Given the description of an element on the screen output the (x, y) to click on. 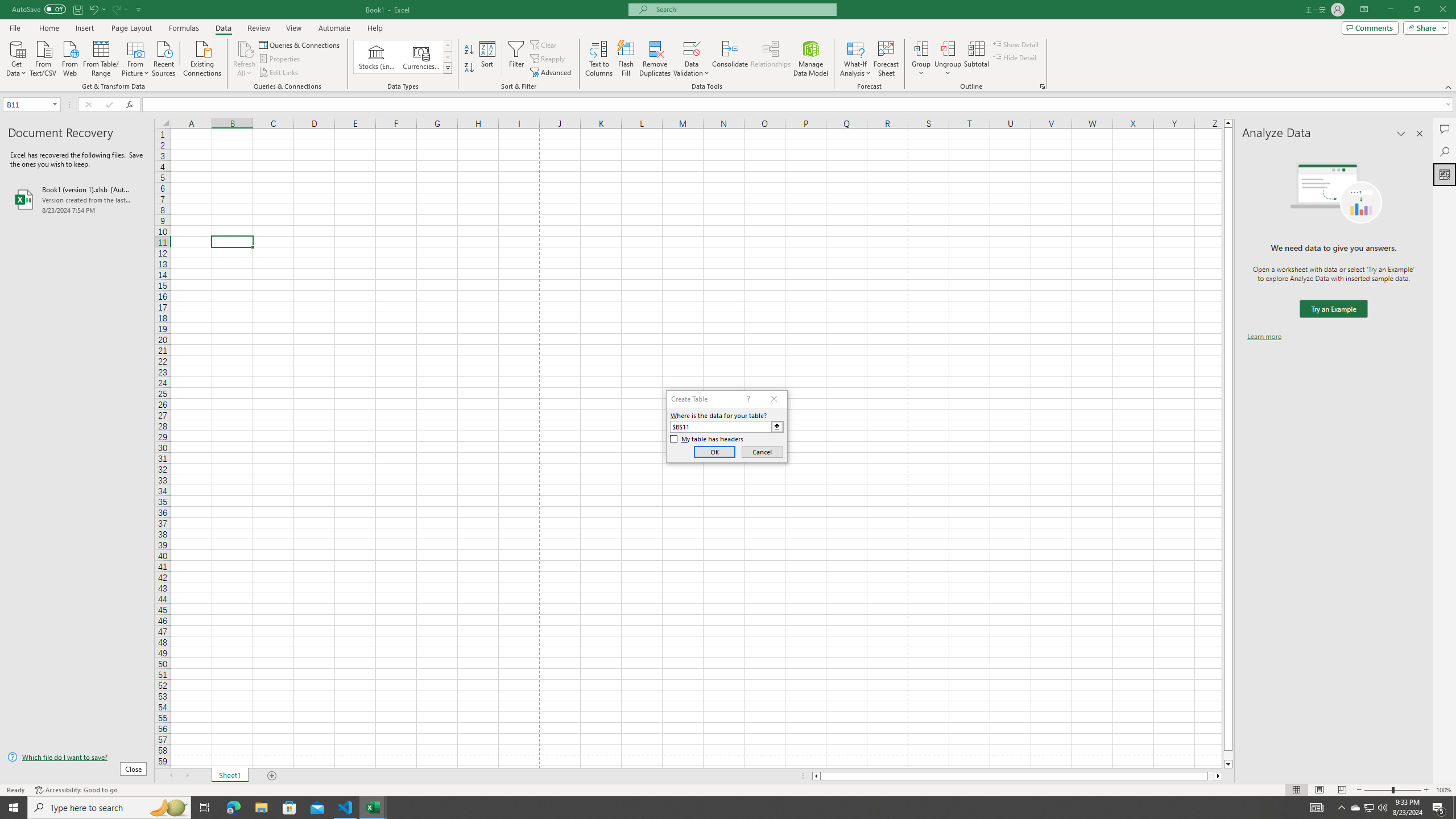
Formula Bar (799, 104)
Properties (280, 58)
Show Detail (1016, 44)
Hide Detail (1014, 56)
Data Types (448, 67)
Automate (334, 28)
Flash Fill (625, 58)
